Given the description of an element on the screen output the (x, y) to click on. 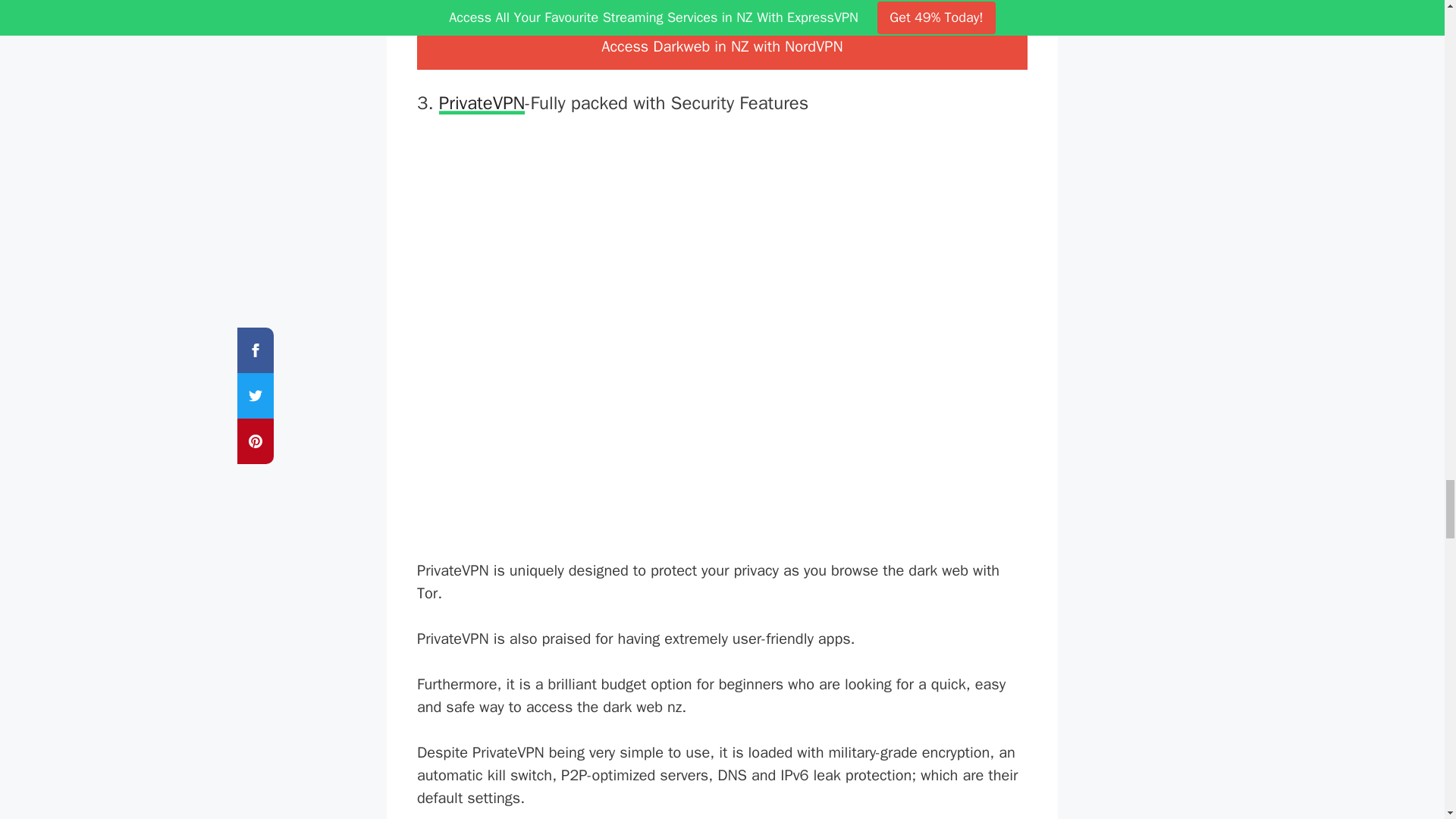
PrivateVPN (482, 102)
privatevpn (482, 102)
Access Darkweb in NZ with NordVPN (721, 46)
